Given the description of an element on the screen output the (x, y) to click on. 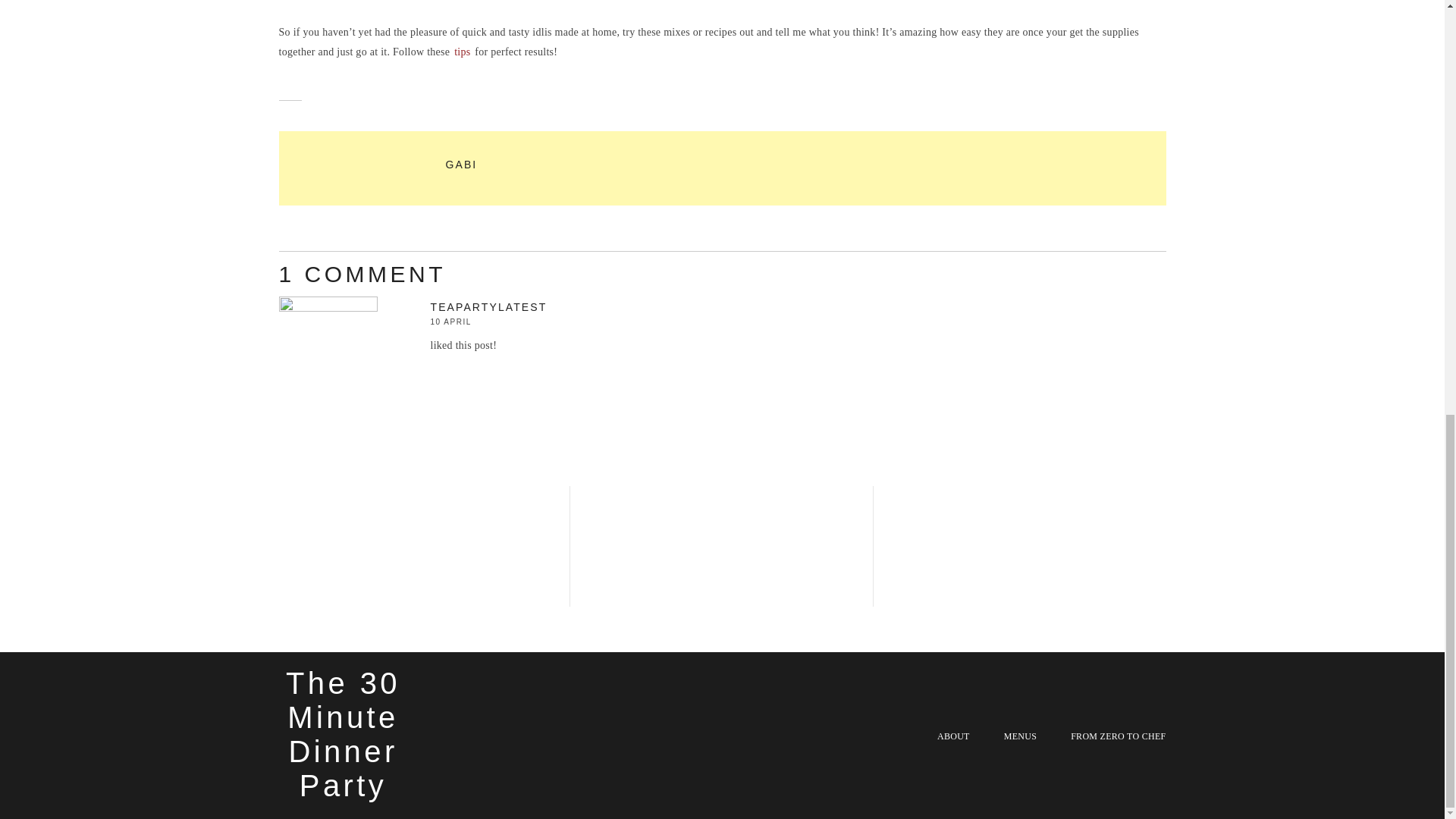
Posts by Gabi (461, 164)
April 10, 2010 7:26 (488, 322)
